Given the description of an element on the screen output the (x, y) to click on. 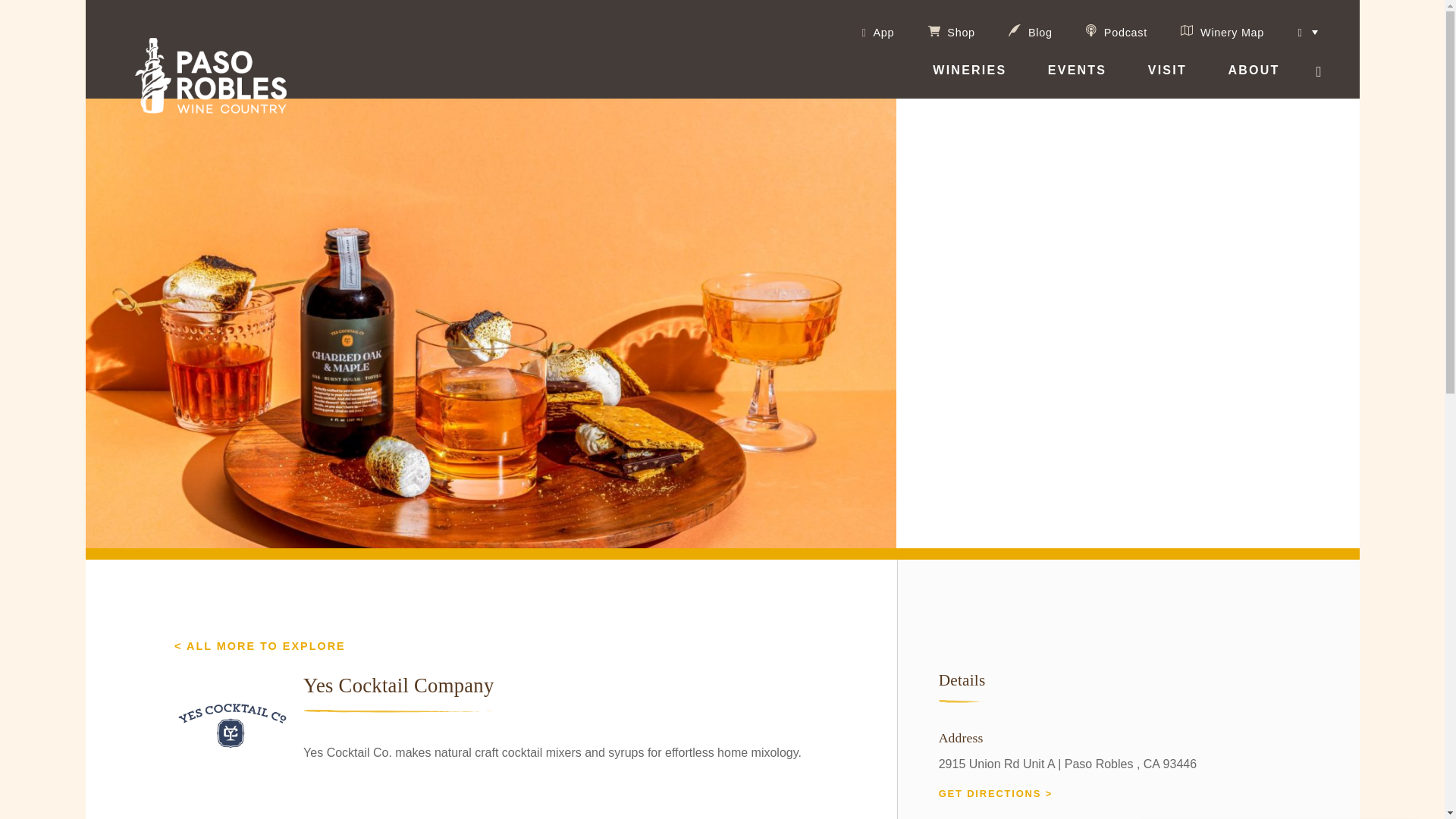
Podcast (1115, 30)
Blog (1029, 30)
WINERIES (969, 79)
App (876, 32)
Winery Map (1222, 30)
EVENTS (1077, 79)
on (1339, 34)
ABOUT (1253, 79)
Shop (951, 31)
VISIT (1167, 79)
